Given the description of an element on the screen output the (x, y) to click on. 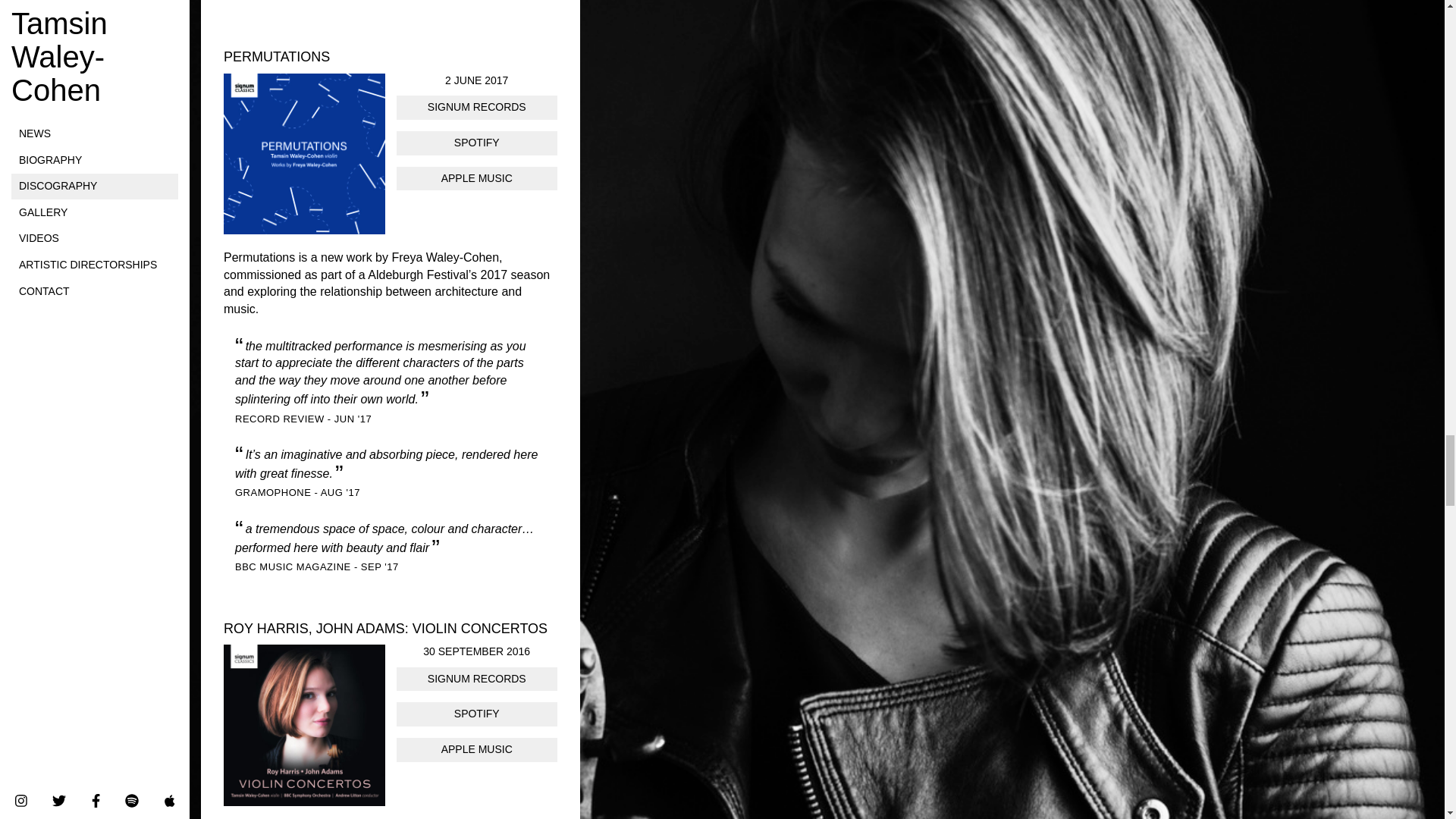
SIGNUM RECORDS (476, 107)
SPOTIFY (476, 143)
APPLE MUSIC (476, 749)
APPLE MUSIC (476, 178)
SIGNUM RECORDS (476, 679)
SPOTIFY (476, 713)
